Given the description of an element on the screen output the (x, y) to click on. 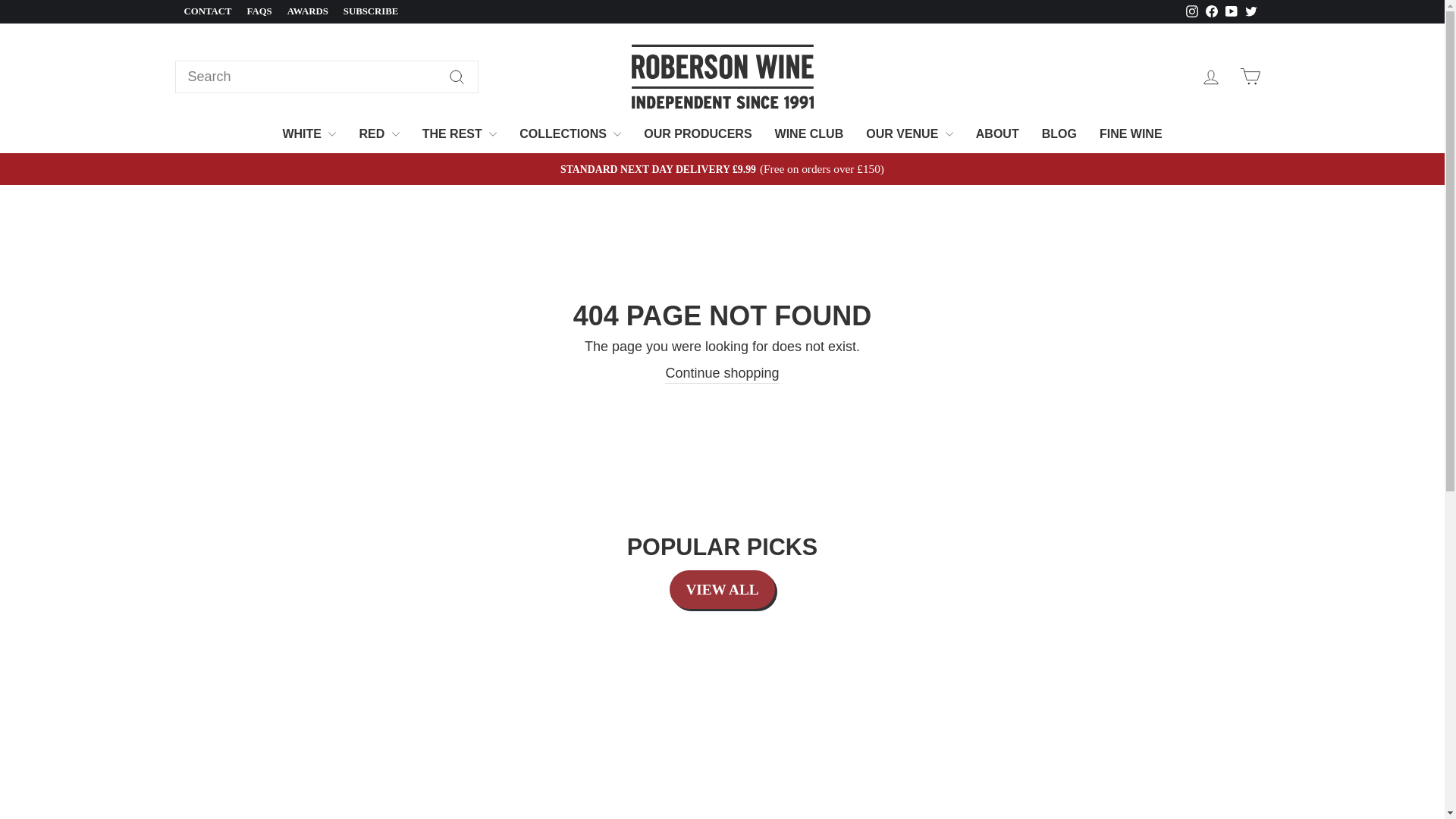
ACCOUNT (1210, 76)
twitter (1250, 10)
instagram (1192, 10)
